Given the description of an element on the screen output the (x, y) to click on. 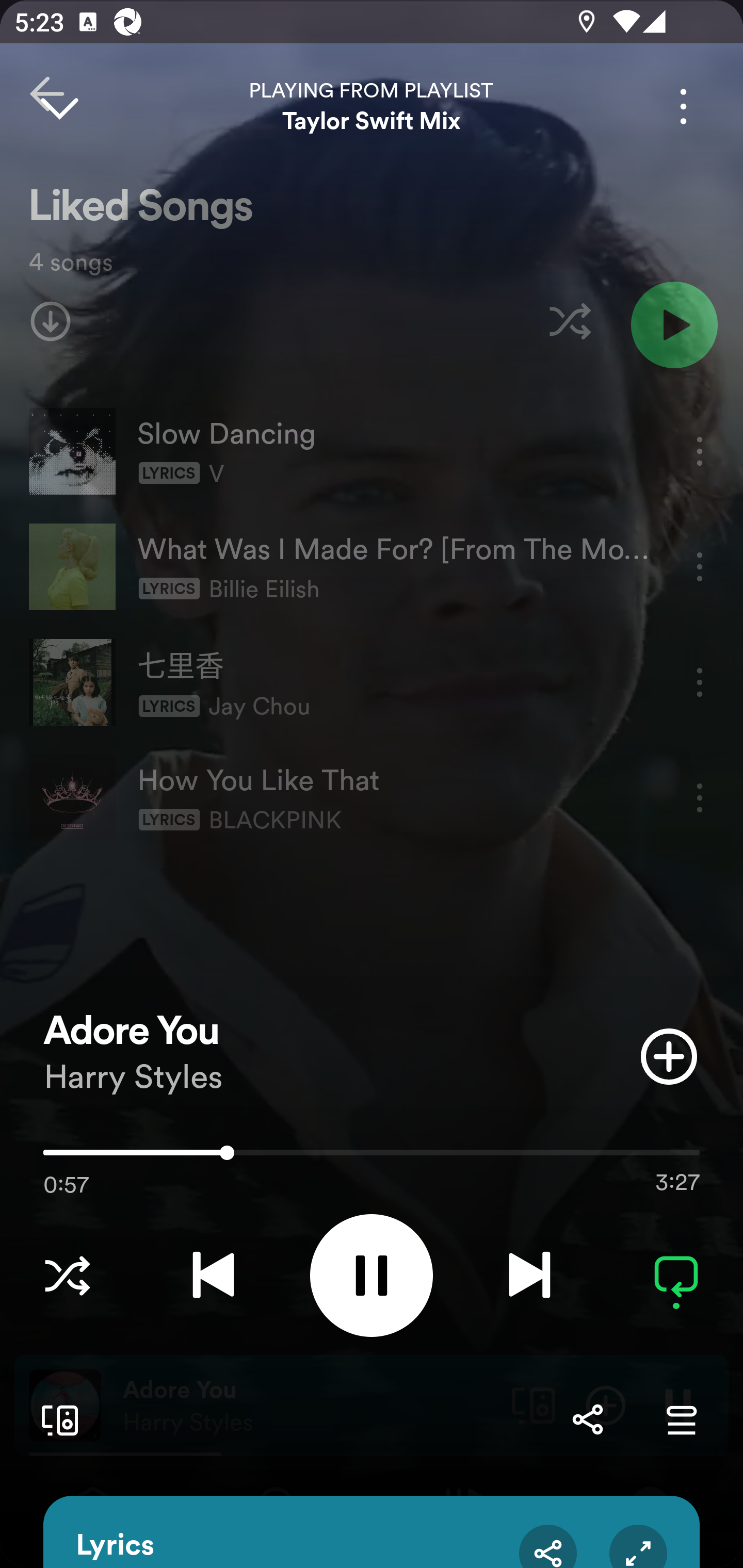
Close (59, 106)
More options for song Adore You (683, 106)
PLAYING FROM PLAYLIST Taylor Swift Mix (371, 106)
Add item (669, 1056)
0:57 3:27 57634.0 Use volume keys to adjust (371, 1157)
Pause (371, 1275)
Previous (212, 1275)
Next (529, 1275)
Choose a Listening Mode (66, 1275)
Repeat (676, 1275)
Share (587, 1419)
Go to Queue (681, 1419)
Connect to a device. Opens the devices menu (55, 1419)
Lyrics Share Expand (371, 1531)
Share (547, 1546)
Expand (638, 1546)
